Given the description of an element on the screen output the (x, y) to click on. 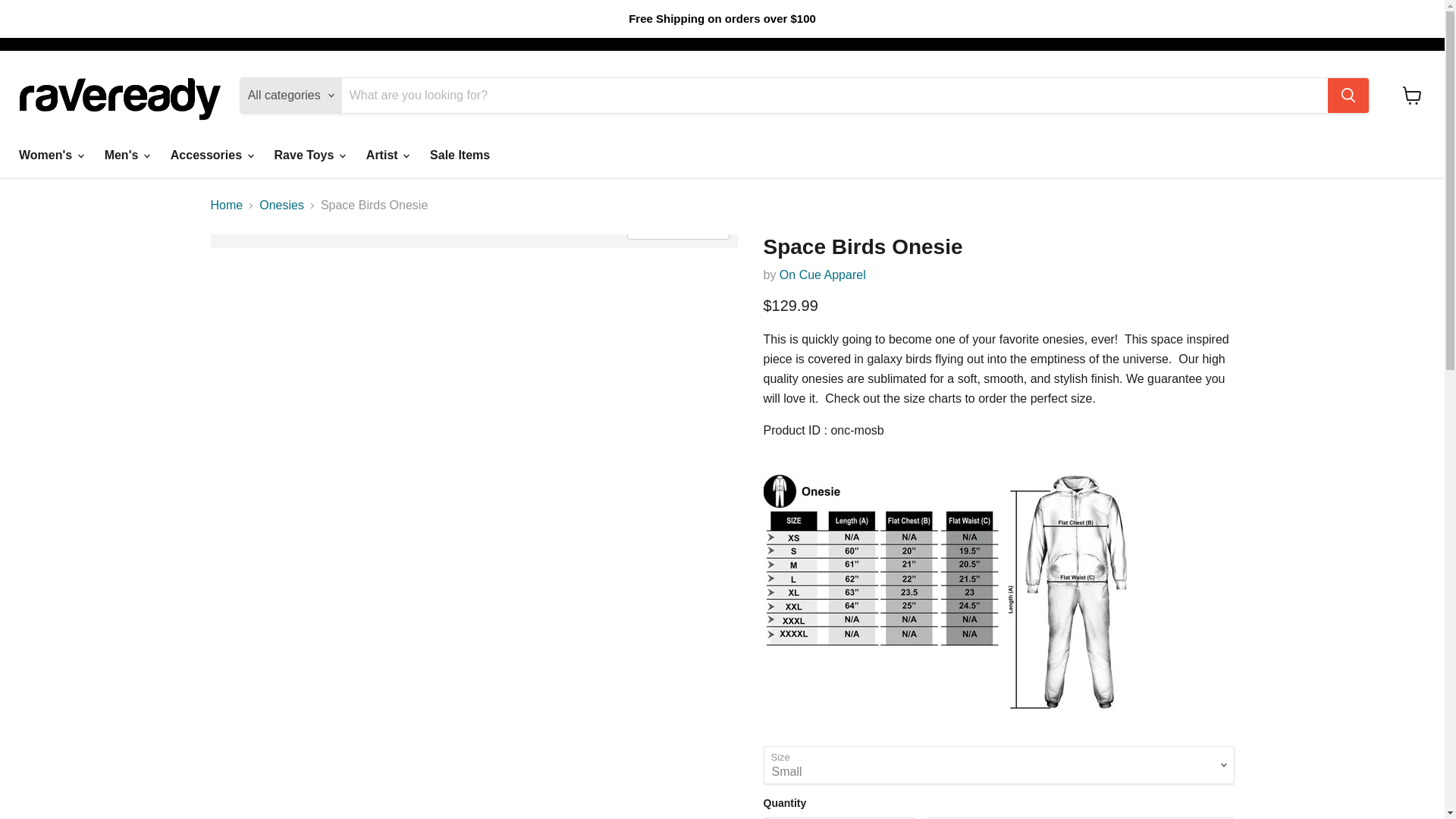
View cart (1411, 95)
On Cue Apparel (822, 274)
1 (839, 818)
Sale Items (459, 155)
